Given the description of an element on the screen output the (x, y) to click on. 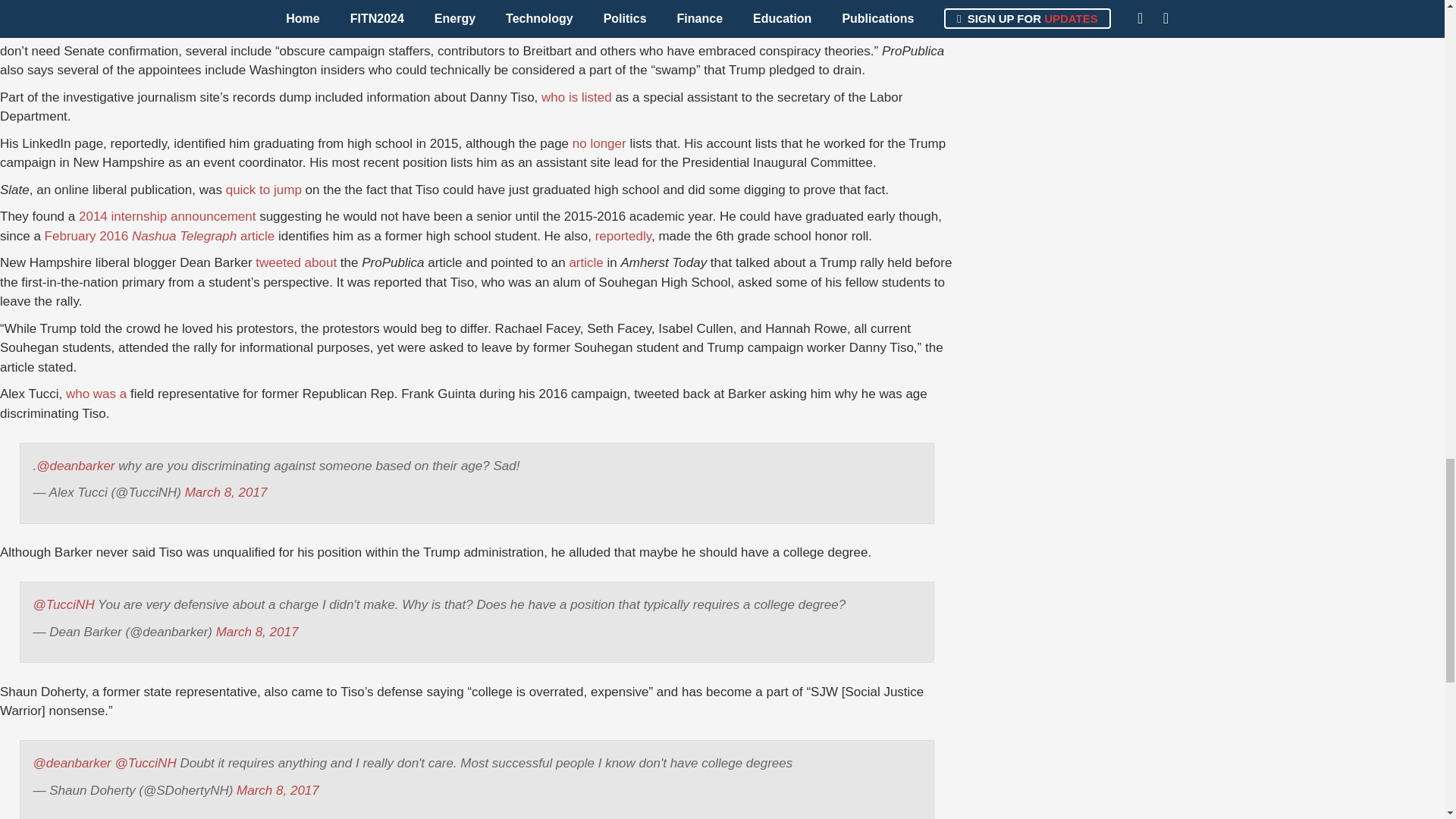
March 8, 2017 (225, 492)
quick to jump (263, 189)
tweeted about (296, 262)
2014 internship announcement (167, 216)
article (585, 262)
February 2016 Nashua Telegraph article (160, 236)
reported (275, 31)
March 8, 2017 (256, 631)
who was a (95, 393)
no longer (599, 143)
who is listed (576, 97)
reportedly (622, 236)
